Given the description of an element on the screen output the (x, y) to click on. 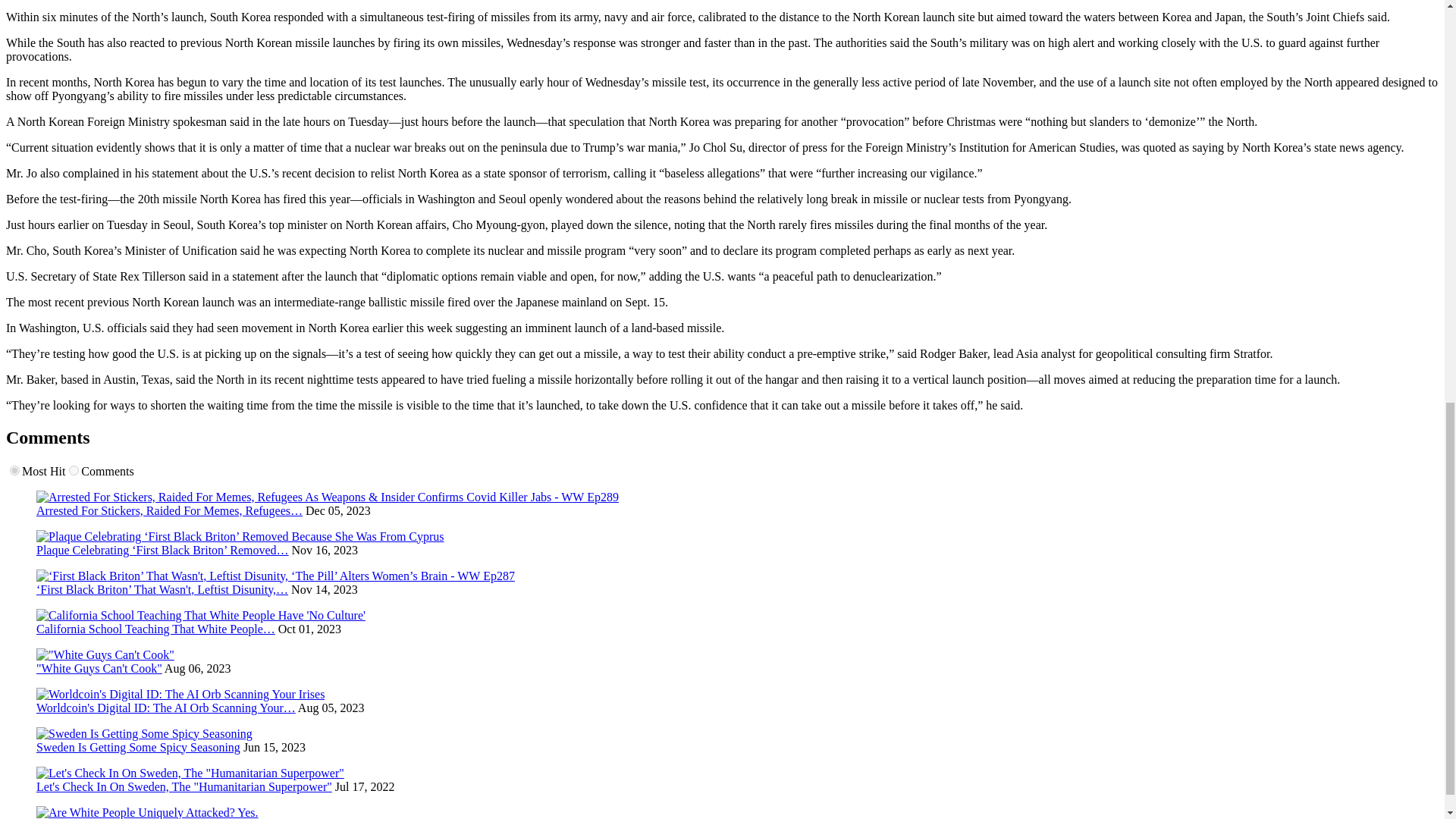
on (15, 470)
on (73, 470)
